Given the description of an element on the screen output the (x, y) to click on. 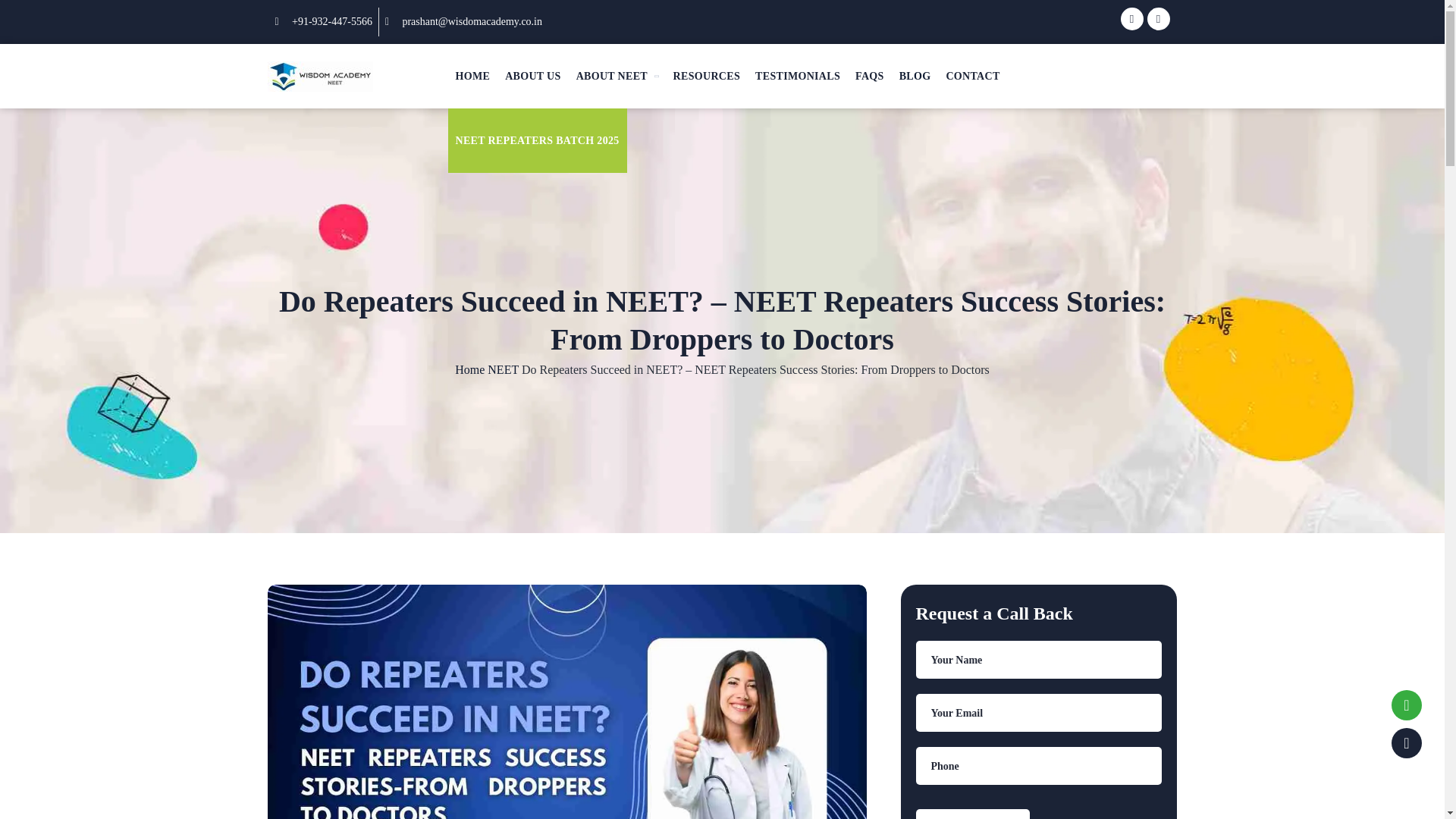
NEET REPEATERS BATCH 2025 (536, 140)
CONTACT (972, 76)
ABOUT NEET (617, 76)
RESOURCES (706, 76)
Submit Massage (972, 814)
TESTIMONIALS (797, 76)
ABOUT US (533, 76)
